Given the description of an element on the screen output the (x, y) to click on. 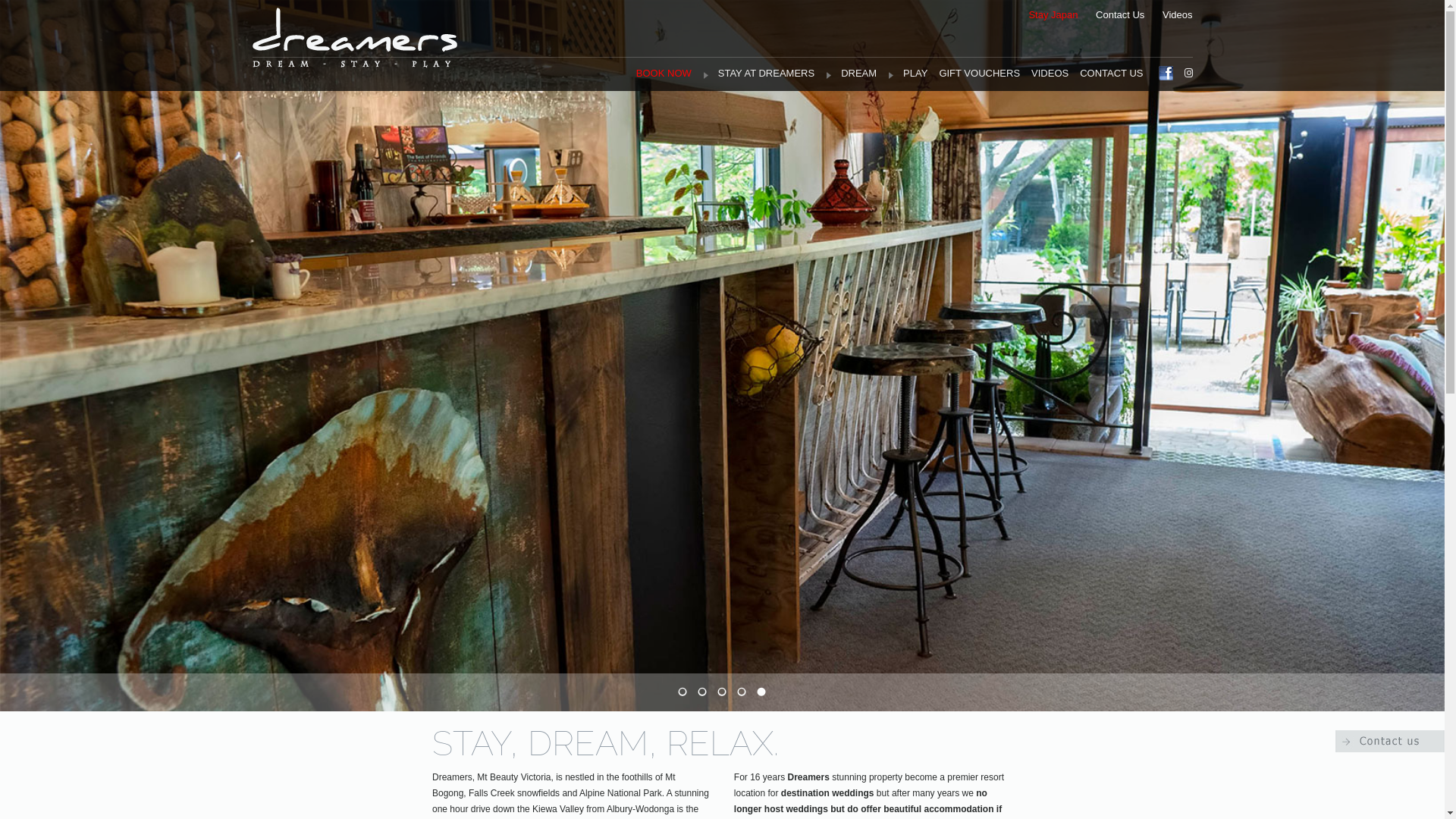
PLAY Element type: text (907, 73)
2 Element type: text (702, 692)
DREAM Element type: text (850, 73)
5 Element type: text (761, 692)
GIFT VOUCHERS Element type: text (978, 73)
CONTACT US Element type: text (1110, 73)
3 Element type: text (722, 692)
BOOK NOW Element type: text (663, 73)
4 Element type: text (742, 692)
VIDEOS Element type: text (1049, 73)
GardenHouse_SON6121 Element type: hover (722, 355)
STAY AT DREAMERS Element type: text (758, 73)
Contact Us Element type: text (1119, 15)
1 Element type: text (682, 692)
Videos Element type: text (1177, 15)
Stay Japan Element type: text (1052, 15)
Skip to content Element type: text (676, 20)
